Given the description of an element on the screen output the (x, y) to click on. 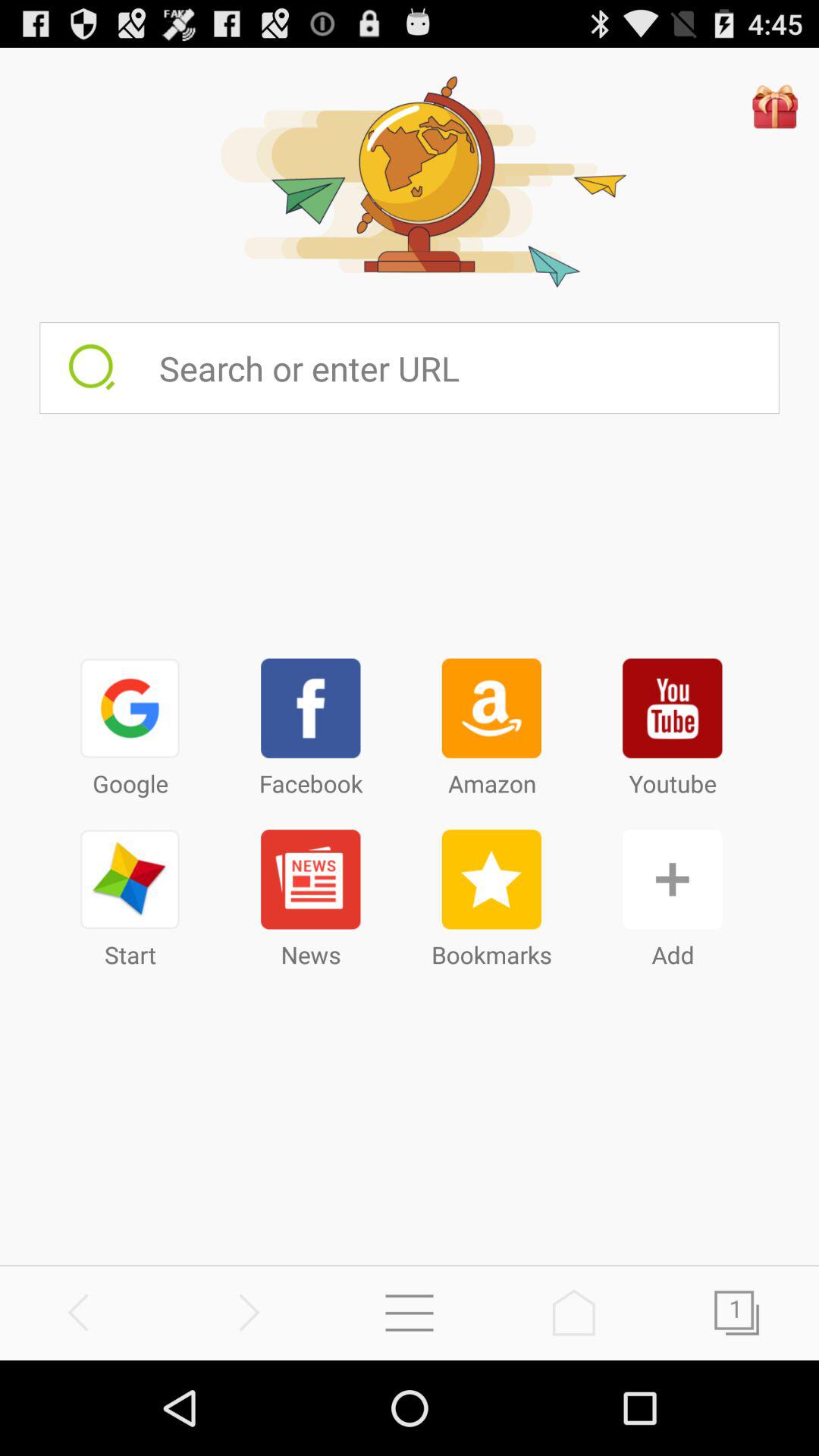
select the gift button (775, 105)
